Given the description of an element on the screen output the (x, y) to click on. 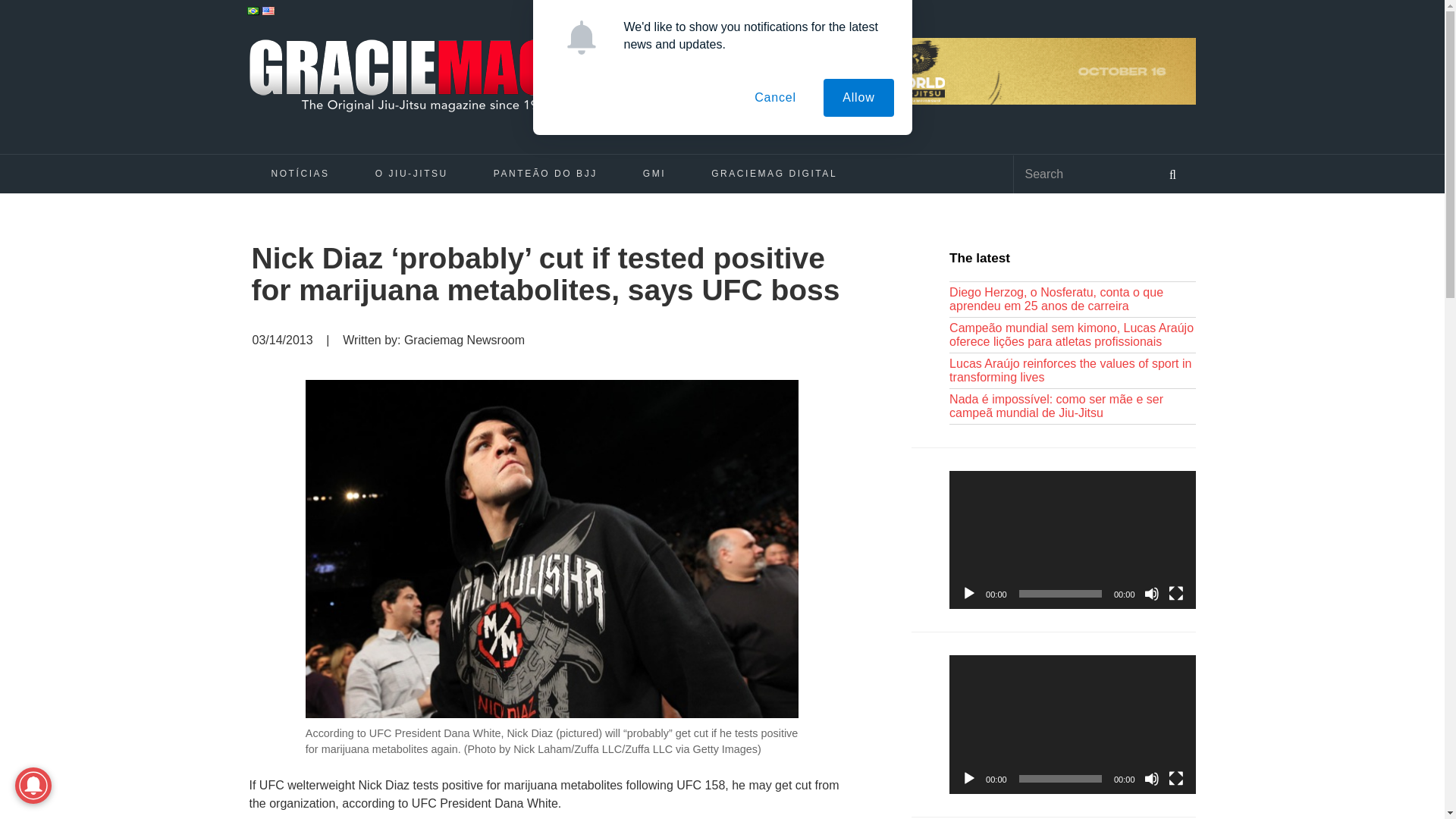
Mute (1150, 593)
Play (968, 593)
O JIU-JITSU (411, 173)
Search (1172, 173)
GRACIEMAG DIGITAL (774, 173)
Fullscreen (1174, 593)
Search (1081, 174)
GMI (654, 173)
Search (1081, 174)
